Given the description of an element on the screen output the (x, y) to click on. 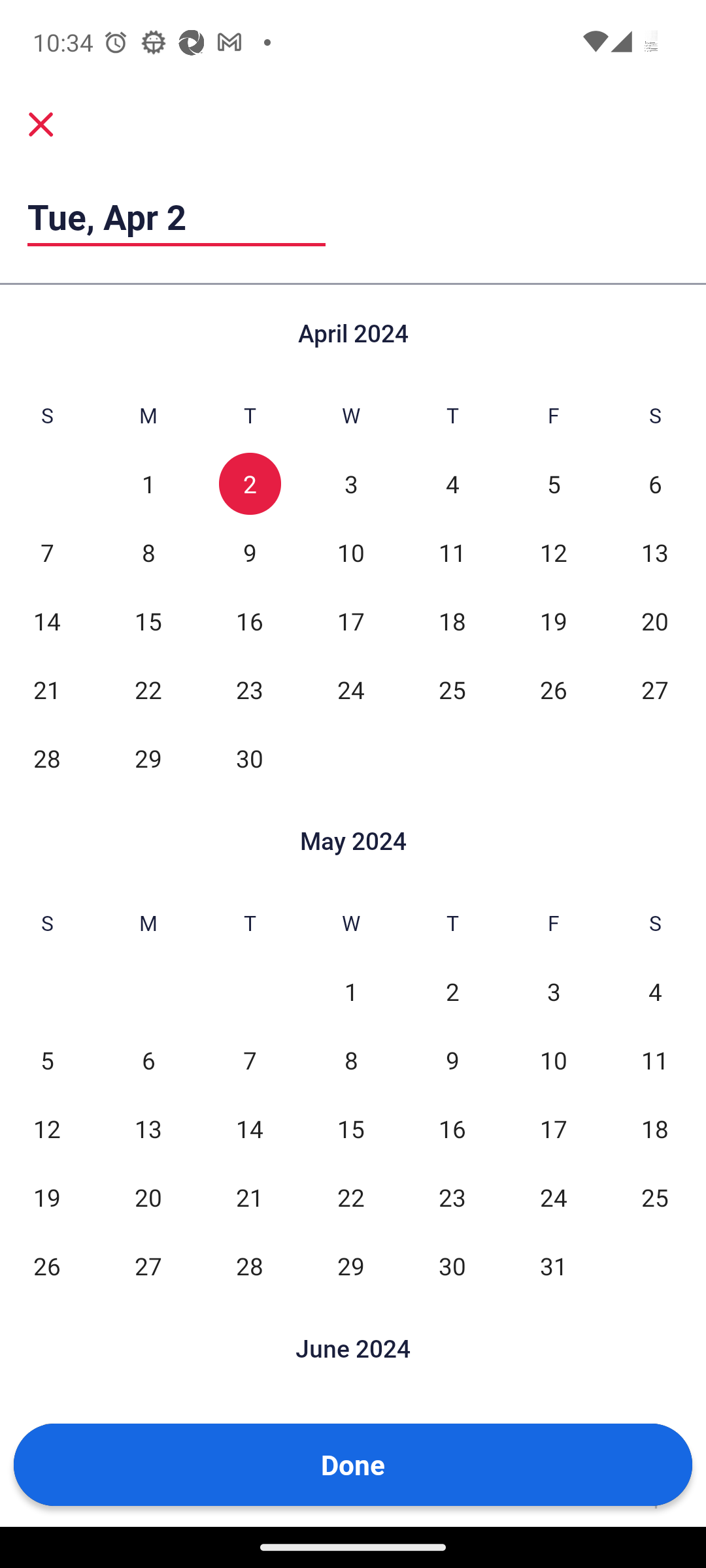
Cancel (41, 124)
Cancel (40, 123)
Tue, Apr 2 (176, 215)
1 Mon, Apr 1, Not Selected (148, 483)
2 Tue, Apr 2, Selected (250, 483)
3 Wed, Apr 3, Not Selected (350, 483)
4 Thu, Apr 4, Not Selected (452, 483)
5 Fri, Apr 5, Not Selected (553, 483)
6 Sat, Apr 6, Not Selected (655, 483)
7 Sun, Apr 7, Not Selected (47, 551)
8 Mon, Apr 8, Not Selected (148, 551)
9 Tue, Apr 9, Not Selected (250, 551)
10 Wed, Apr 10, Not Selected (350, 551)
11 Thu, Apr 11, Not Selected (452, 551)
12 Fri, Apr 12, Not Selected (553, 551)
13 Sat, Apr 13, Not Selected (655, 551)
14 Sun, Apr 14, Not Selected (47, 620)
15 Mon, Apr 15, Not Selected (148, 620)
16 Tue, Apr 16, Not Selected (250, 620)
17 Wed, Apr 17, Not Selected (350, 620)
18 Thu, Apr 18, Not Selected (452, 620)
19 Fri, Apr 19, Not Selected (553, 620)
20 Sat, Apr 20, Not Selected (655, 620)
21 Sun, Apr 21, Not Selected (47, 689)
22 Mon, Apr 22, Not Selected (148, 689)
23 Tue, Apr 23, Not Selected (250, 689)
24 Wed, Apr 24, Not Selected (350, 689)
25 Thu, Apr 25, Not Selected (452, 689)
26 Fri, Apr 26, Not Selected (553, 689)
27 Sat, Apr 27, Not Selected (655, 689)
28 Sun, Apr 28, Not Selected (47, 757)
29 Mon, Apr 29, Not Selected (148, 757)
30 Tue, Apr 30, Not Selected (250, 757)
1 Wed, May 1, Not Selected (350, 990)
2 Thu, May 2, Not Selected (452, 990)
3 Fri, May 3, Not Selected (553, 990)
4 Sat, May 4, Not Selected (655, 990)
5 Sun, May 5, Not Selected (47, 1059)
6 Mon, May 6, Not Selected (148, 1059)
7 Tue, May 7, Not Selected (250, 1059)
8 Wed, May 8, Not Selected (350, 1059)
9 Thu, May 9, Not Selected (452, 1059)
10 Fri, May 10, Not Selected (553, 1059)
11 Sat, May 11, Not Selected (655, 1059)
12 Sun, May 12, Not Selected (47, 1128)
13 Mon, May 13, Not Selected (148, 1128)
14 Tue, May 14, Not Selected (250, 1128)
15 Wed, May 15, Not Selected (350, 1128)
16 Thu, May 16, Not Selected (452, 1128)
17 Fri, May 17, Not Selected (553, 1128)
18 Sat, May 18, Not Selected (655, 1128)
19 Sun, May 19, Not Selected (47, 1196)
20 Mon, May 20, Not Selected (148, 1196)
21 Tue, May 21, Not Selected (250, 1196)
22 Wed, May 22, Not Selected (350, 1196)
23 Thu, May 23, Not Selected (452, 1196)
24 Fri, May 24, Not Selected (553, 1196)
25 Sat, May 25, Not Selected (655, 1196)
26 Sun, May 26, Not Selected (47, 1264)
27 Mon, May 27, Not Selected (148, 1264)
28 Tue, May 28, Not Selected (250, 1264)
29 Wed, May 29, Not Selected (350, 1264)
30 Thu, May 30, Not Selected (452, 1264)
31 Fri, May 31, Not Selected (553, 1264)
Done Button Done (352, 1464)
